Given the description of an element on the screen output the (x, y) to click on. 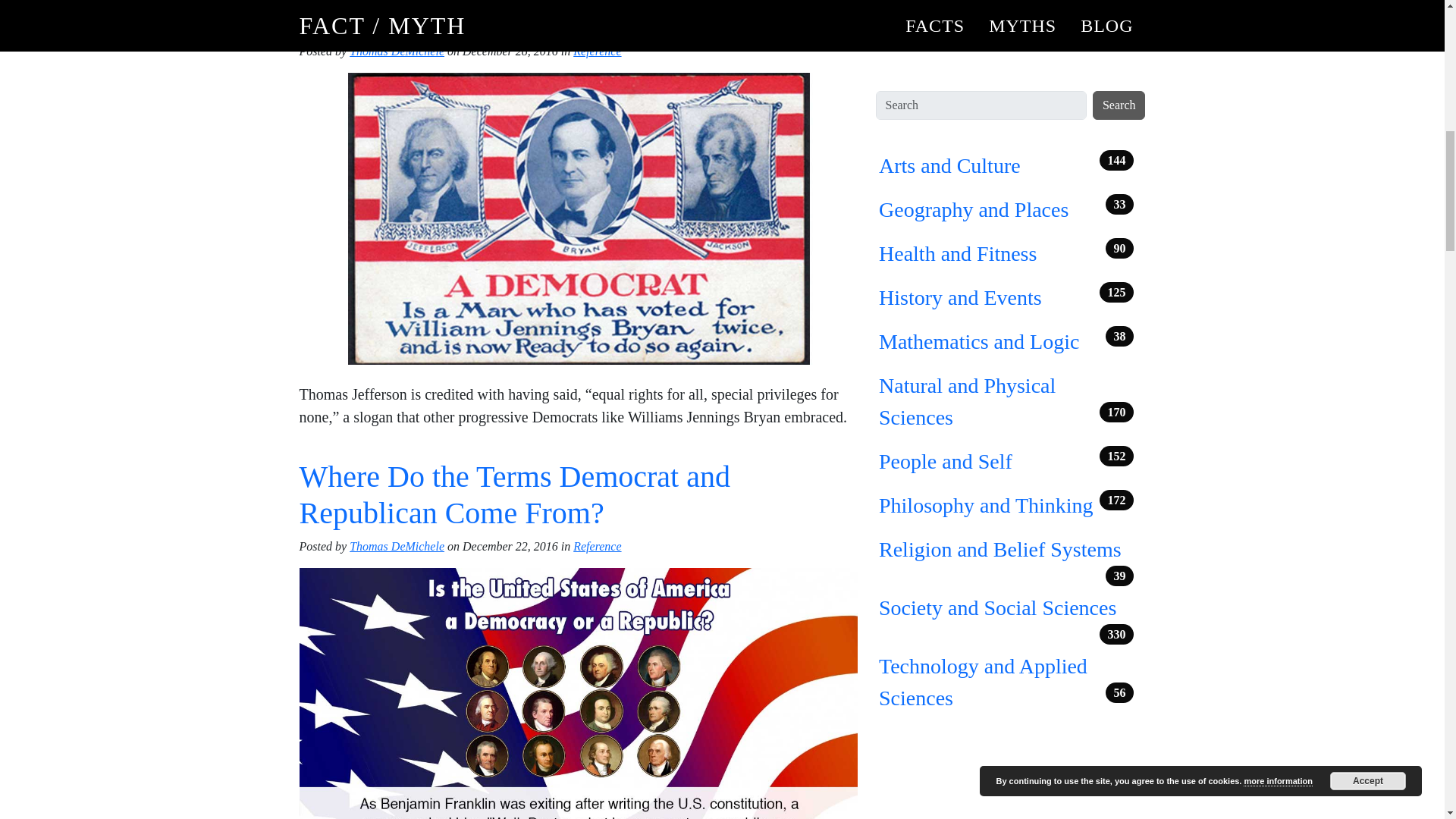
Posts by Thomas DeMichele (396, 51)
Where Do the Terms Democrat and Republican Come From? (513, 494)
Reference (597, 51)
Equal Rights for All, Special Privileges for None (559, 17)
Reference (597, 545)
Thomas DeMichele (396, 51)
Posts by Thomas DeMichele (396, 545)
Thomas DeMichele (396, 545)
